Given the description of an element on the screen output the (x, y) to click on. 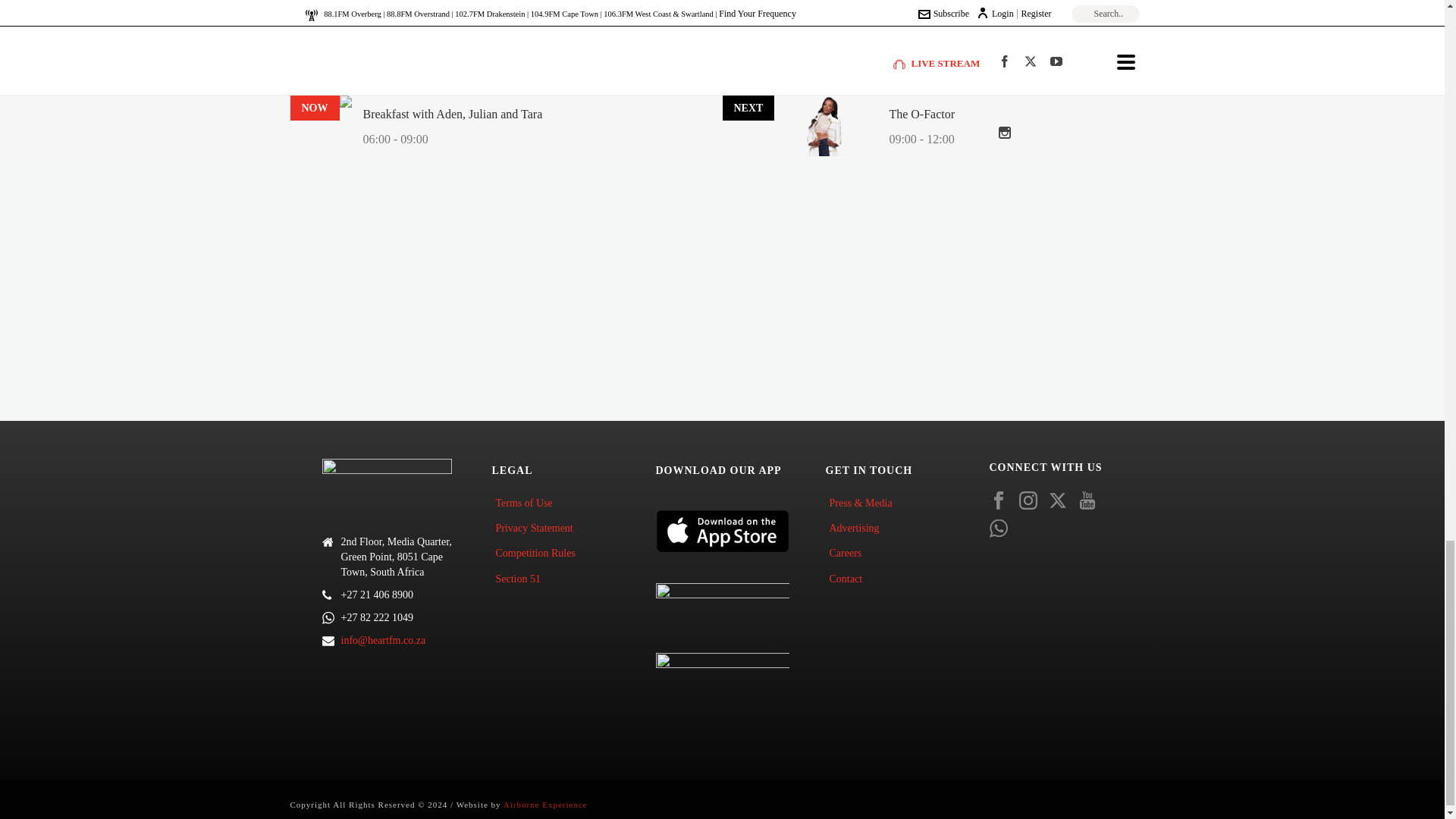
Privacy Statement (537, 527)
Follow Us on whatsapp (997, 529)
Section 51 (521, 578)
Terms of Use (527, 502)
Competition Rules (539, 552)
Follow Us on instagram (1027, 501)
Follow Us on youtube (1087, 501)
